Given the description of an element on the screen output the (x, y) to click on. 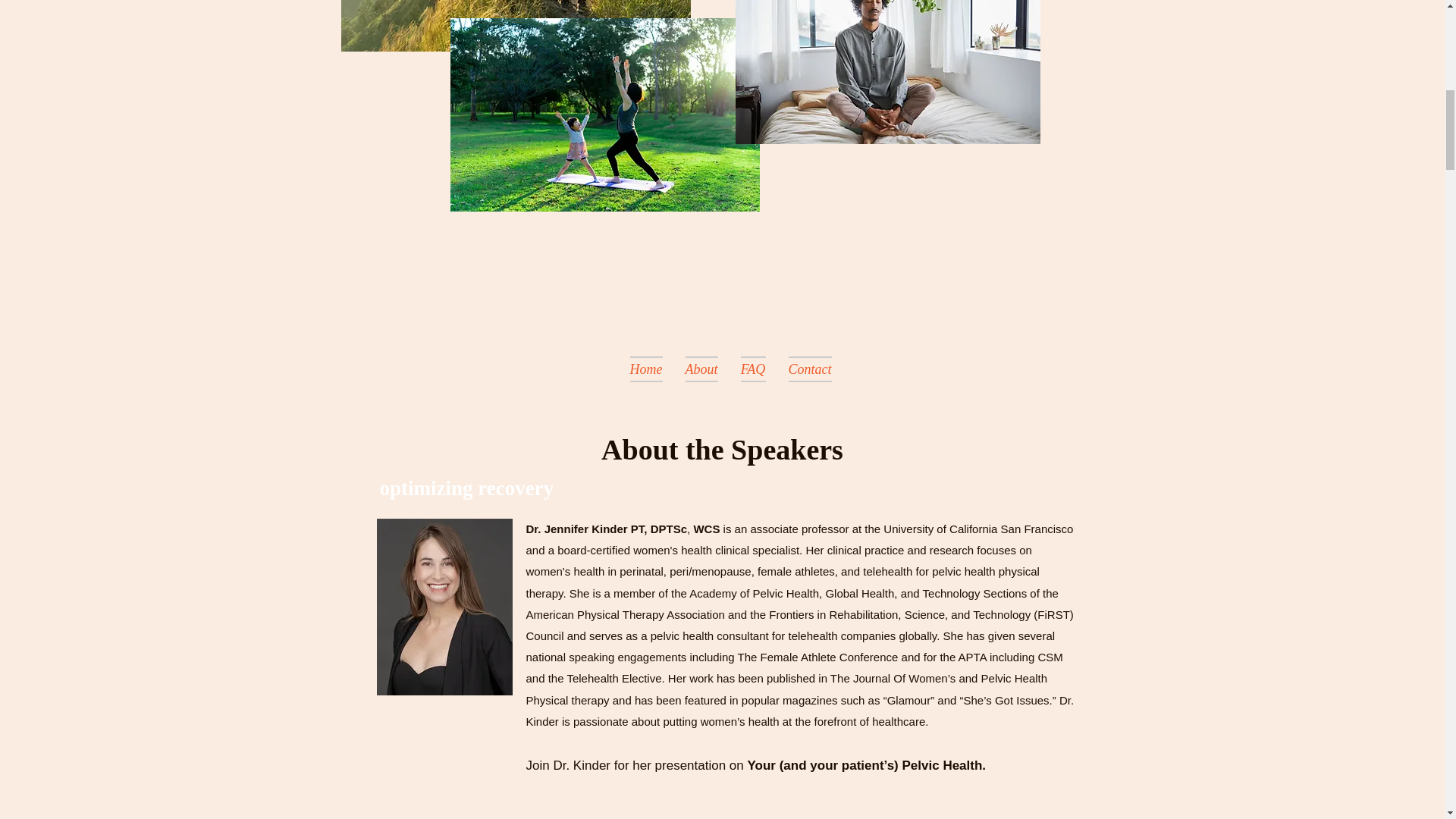
Enjoying the Nature (515, 25)
Contact (809, 369)
About (700, 369)
FAQ (753, 369)
Practising Yoga with Mom (604, 114)
Meditating on Bed (888, 72)
Home (646, 369)
